Given the description of an element on the screen output the (x, y) to click on. 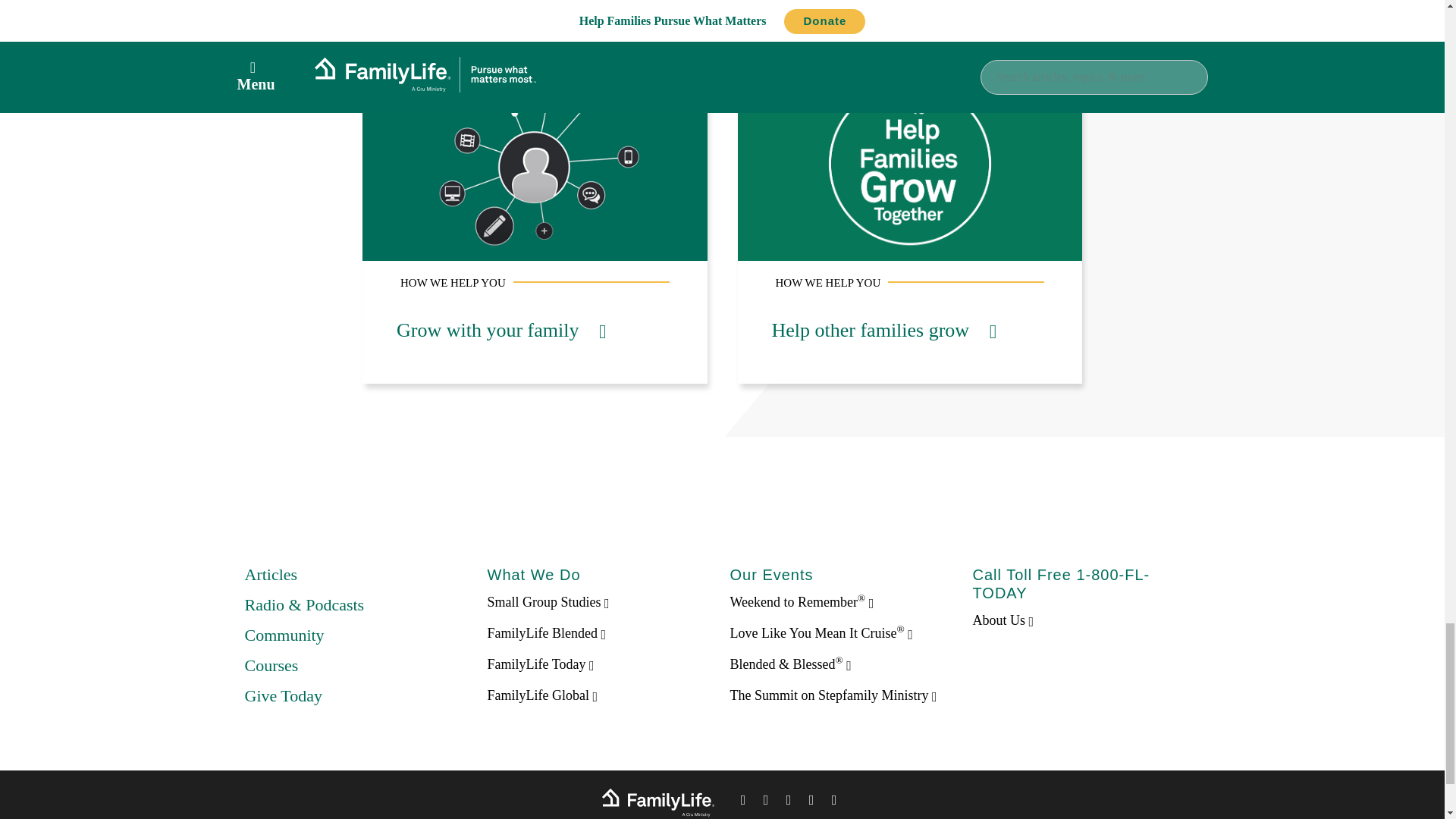
Give Today (282, 695)
Small Group Studies (547, 601)
FamilyLife Global (541, 694)
Instagram (811, 802)
Grow with your family (500, 330)
FamilyLife Today (540, 663)
Community (283, 634)
Articles (270, 574)
Youtube (834, 802)
Pinterest (787, 802)
About Us (1002, 620)
The Summit on Stepfamily Ministry (832, 694)
Facebook (742, 802)
Courses (271, 665)
FamilyLife Blended (545, 632)
